Given the description of an element on the screen output the (x, y) to click on. 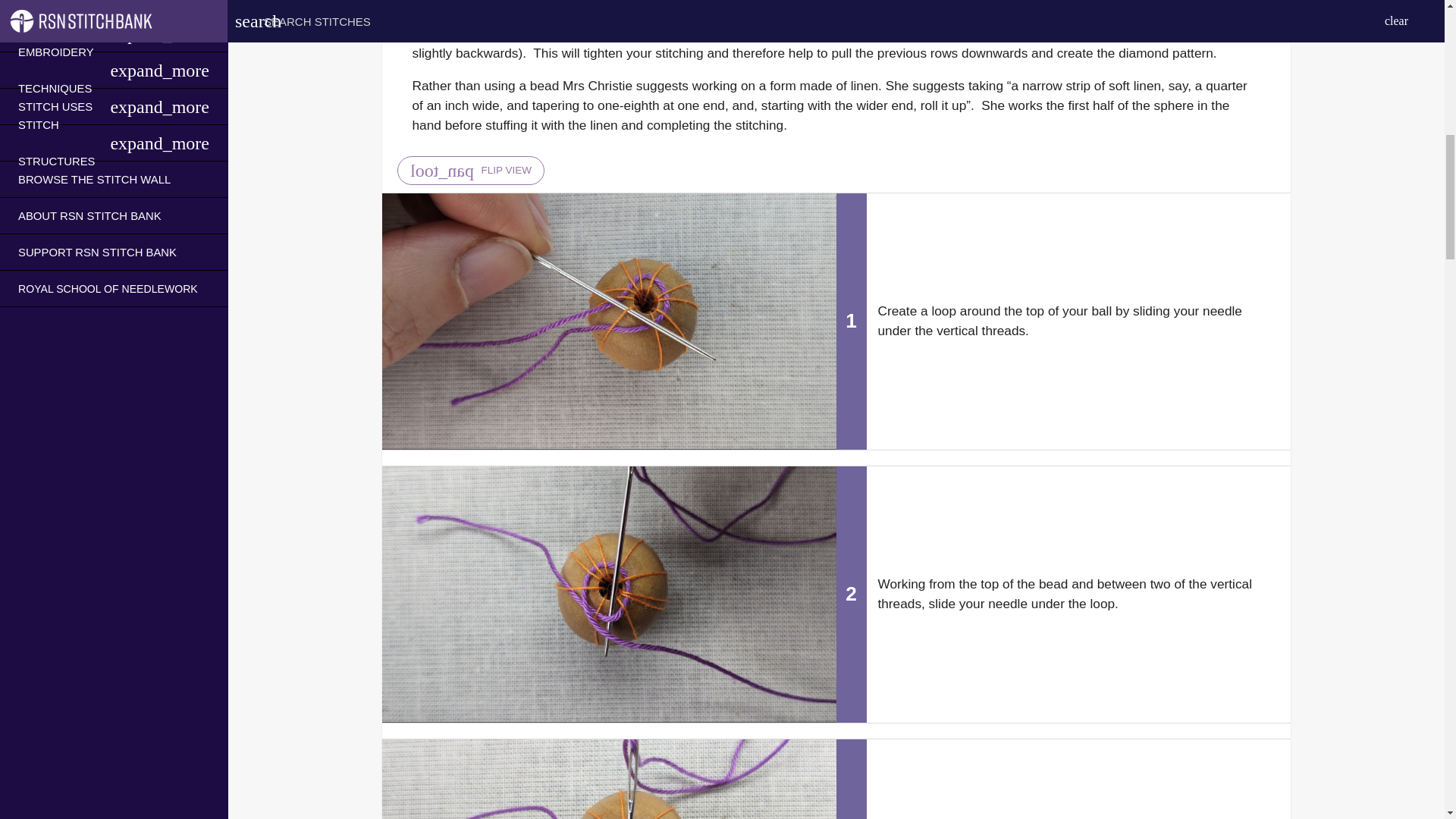
Ball stitch method stage 3 (608, 779)
Ball stitch method stage 1 (608, 320)
Ball stitch method stage 2 (608, 593)
